Given the description of an element on the screen output the (x, y) to click on. 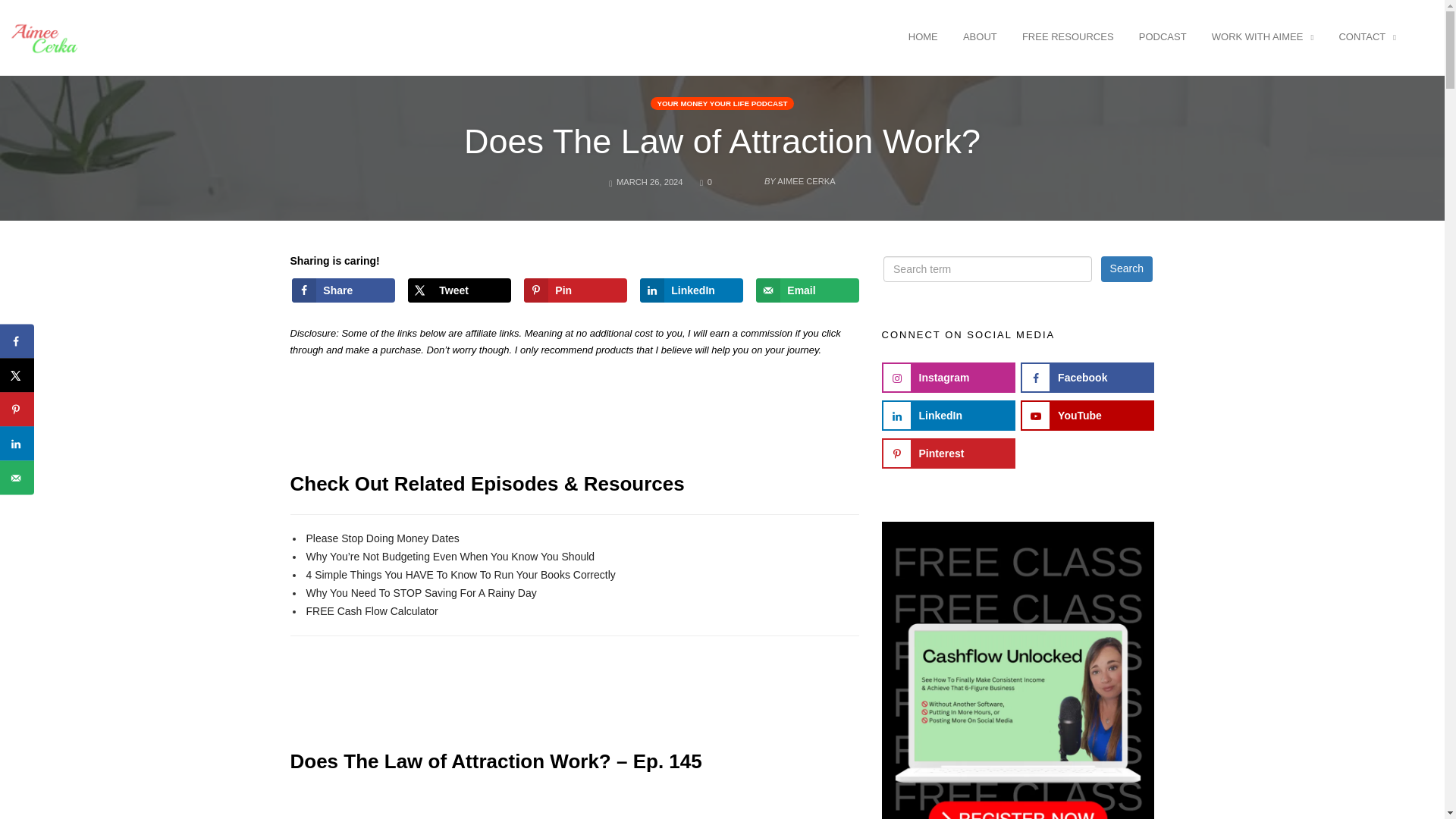
ABOUT (980, 36)
BY AIMEE CERKA (780, 176)
Save to Pinterest (575, 290)
Tweet (459, 290)
Share on Facebook (343, 290)
FREE Cash Flow Calculator (371, 611)
Aimee Cerka (44, 37)
Share on X (459, 290)
WORK WITH AIMEE (1263, 36)
Share (343, 290)
Send over email (807, 290)
Share on LinkedIn (691, 290)
Pin (575, 290)
PODCAST (1163, 36)
4 Simple Things You HAVE To Know To Run Your Books Correctly (459, 574)
